Given the description of an element on the screen output the (x, y) to click on. 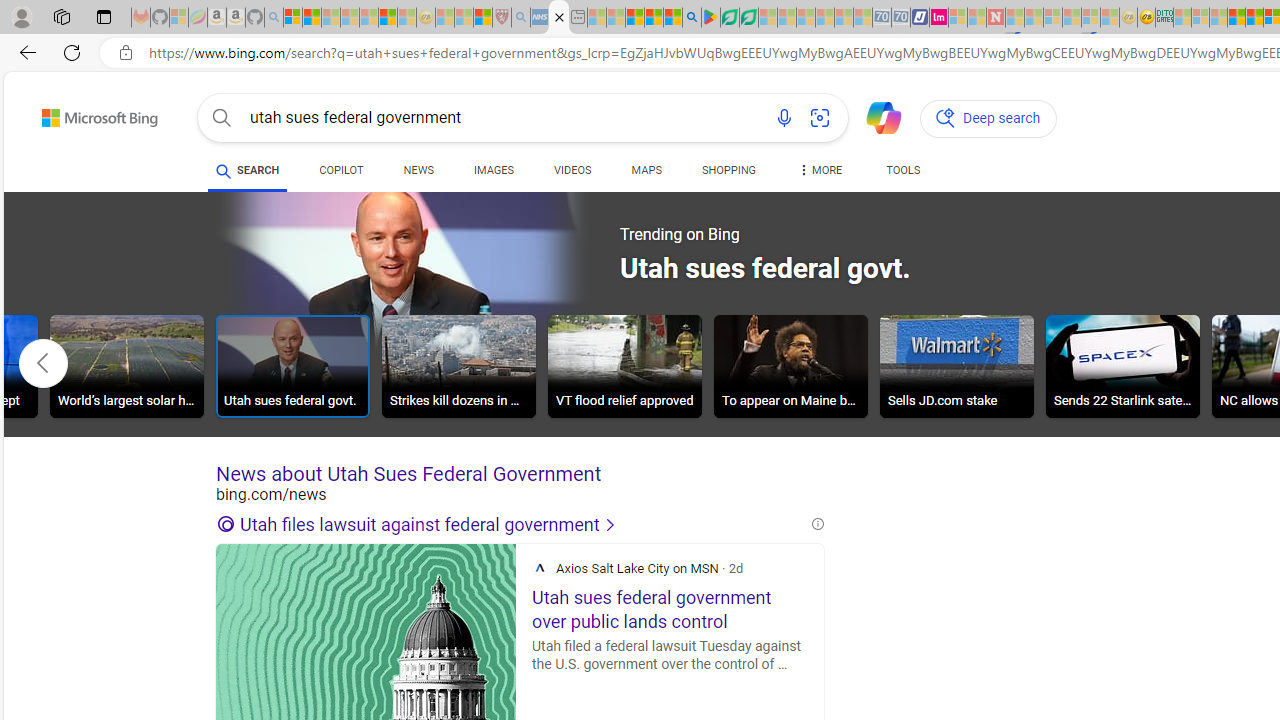
AutomationID: tob_left_arrow (43, 363)
